Given the description of an element on the screen output the (x, y) to click on. 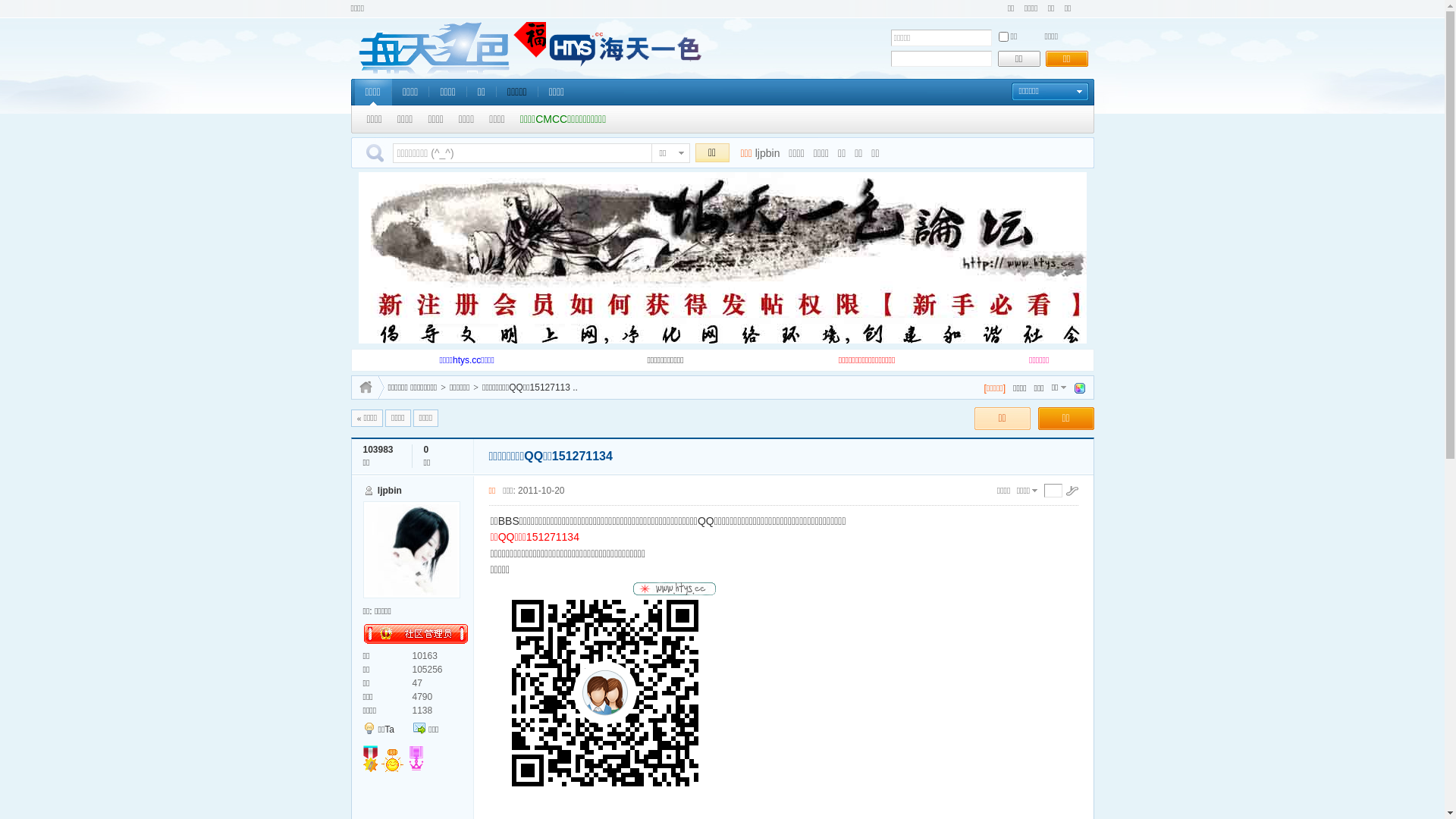
ljpbin Element type: text (767, 153)
ljpbin Element type: hover (410, 549)
ljpbin Element type: text (389, 490)
